Given the description of an element on the screen output the (x, y) to click on. 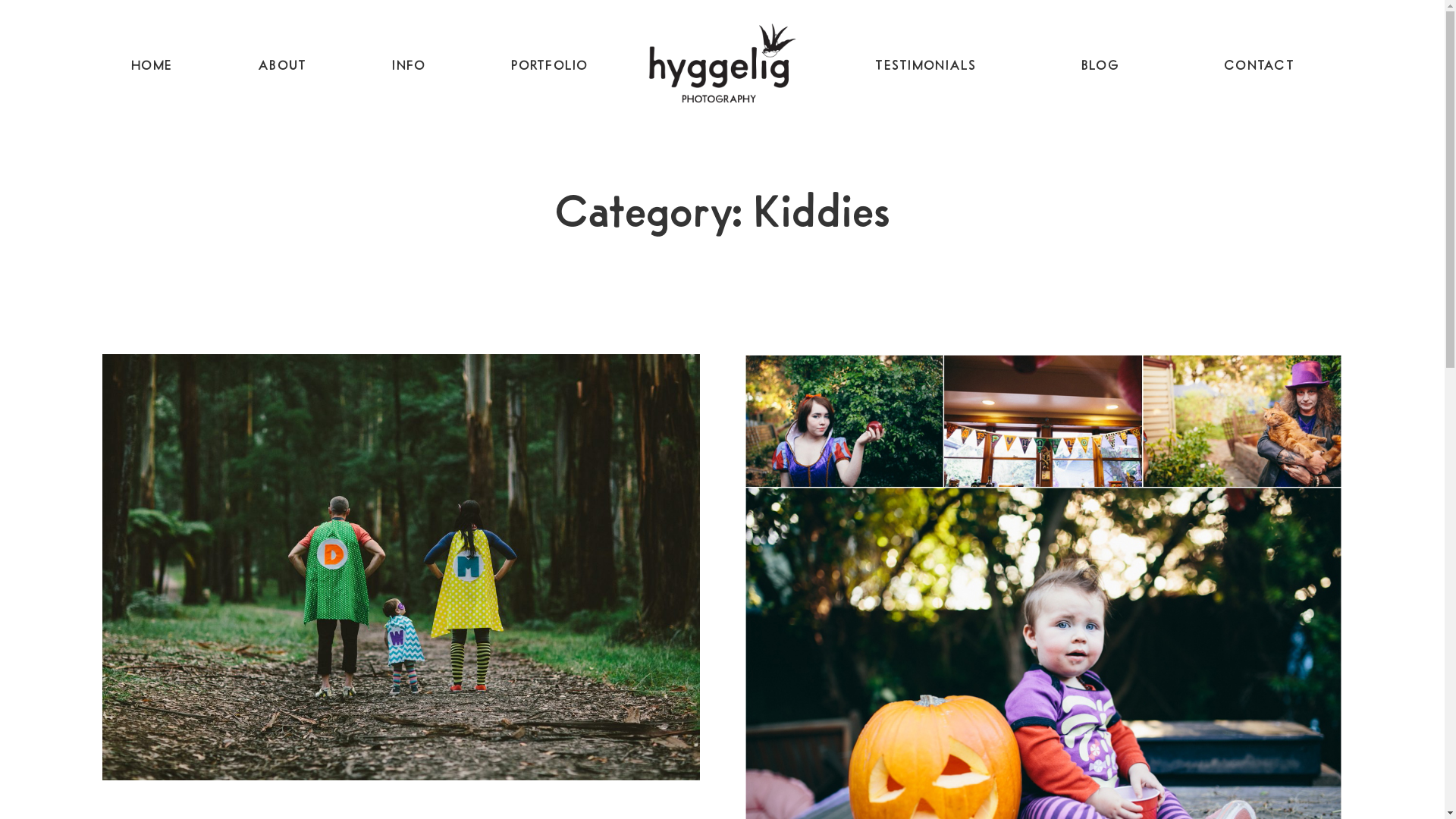
HOME Element type: text (151, 66)
PORTFOLIO Element type: text (549, 66)
INFO Element type: text (408, 66)
ABOUT Element type: text (281, 66)
TESTIMONIALS Element type: text (925, 66)
BLOG Element type: text (1100, 66)
CONTACT Element type: text (1258, 66)
